Given the description of an element on the screen output the (x, y) to click on. 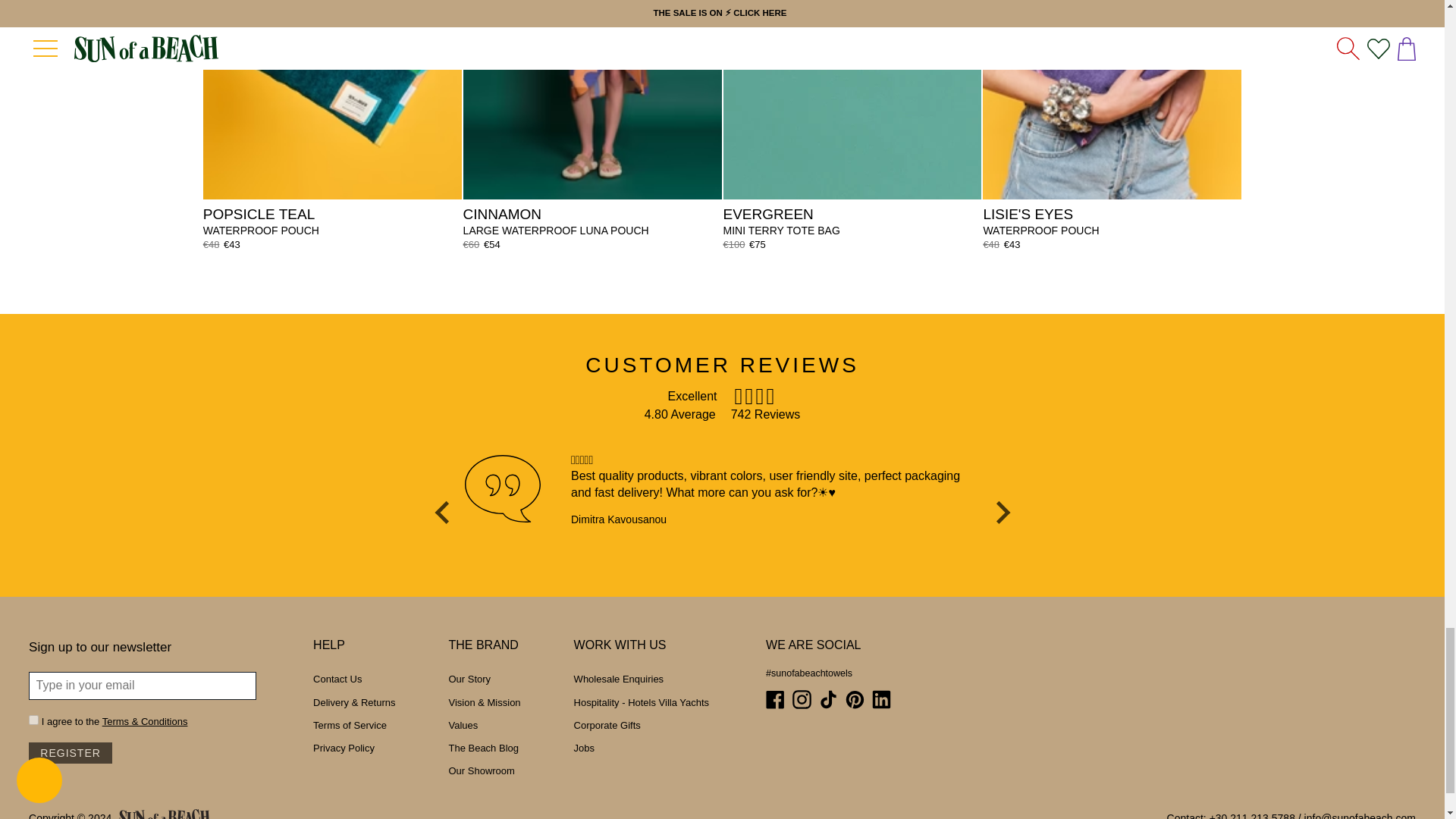
Sun of a Beach on LinkedIn (881, 699)
Sun of a Beach on Tiktok (828, 699)
Sun of a Beach on Pinterest (854, 699)
Register (70, 752)
Sun of a Beach on Instagram (801, 699)
1 (34, 719)
Sun of a Beach on Facebook (774, 699)
